Given the description of an element on the screen output the (x, y) to click on. 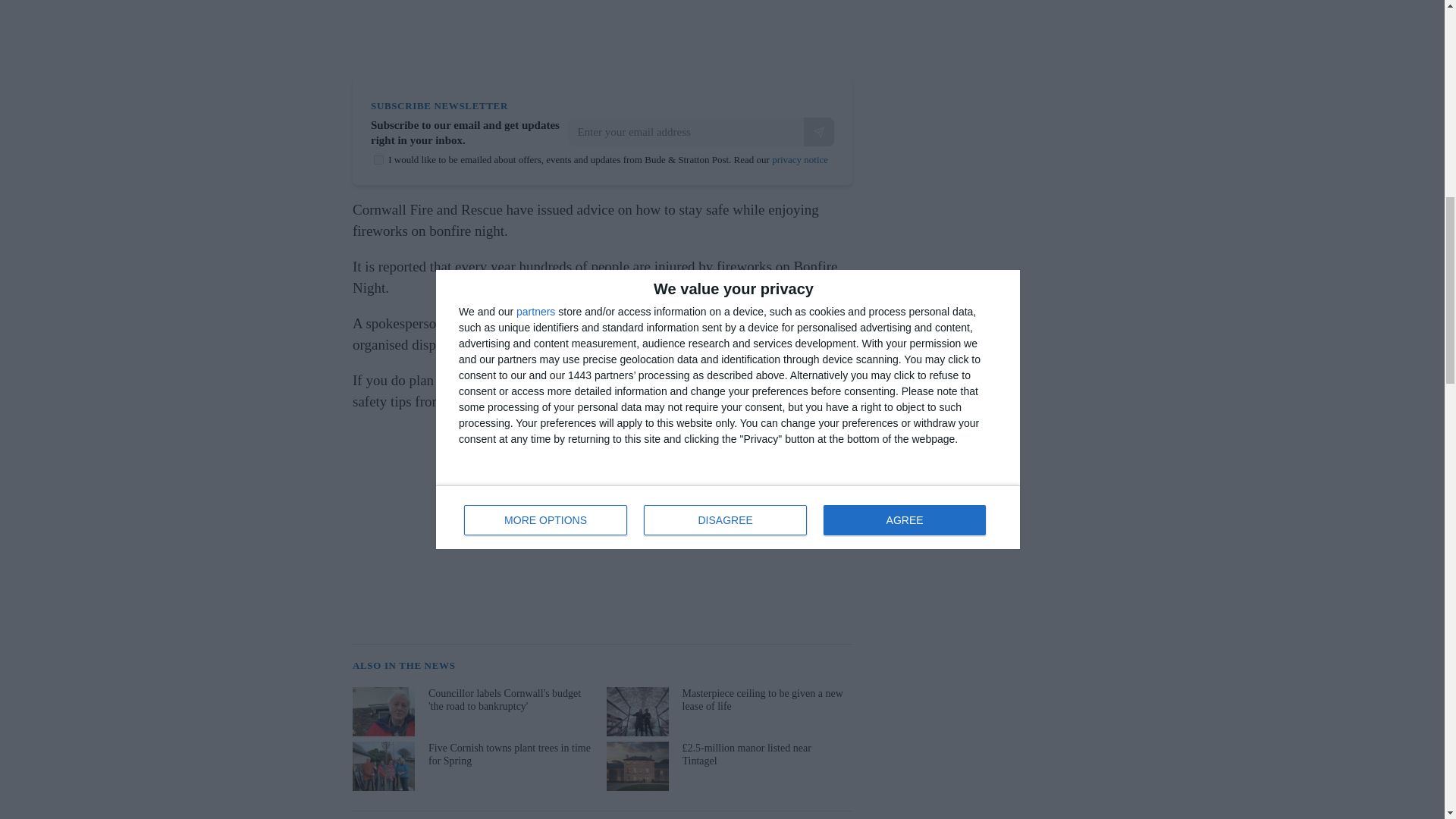
Councillor labels Cornwall's budget 'the road to bankruptcy' (473, 711)
privacy notice (799, 159)
Masterpiece ceiling to be given a new lease of life (727, 711)
Five Cornish towns plant trees in time for Spring (473, 766)
